Given the description of an element on the screen output the (x, y) to click on. 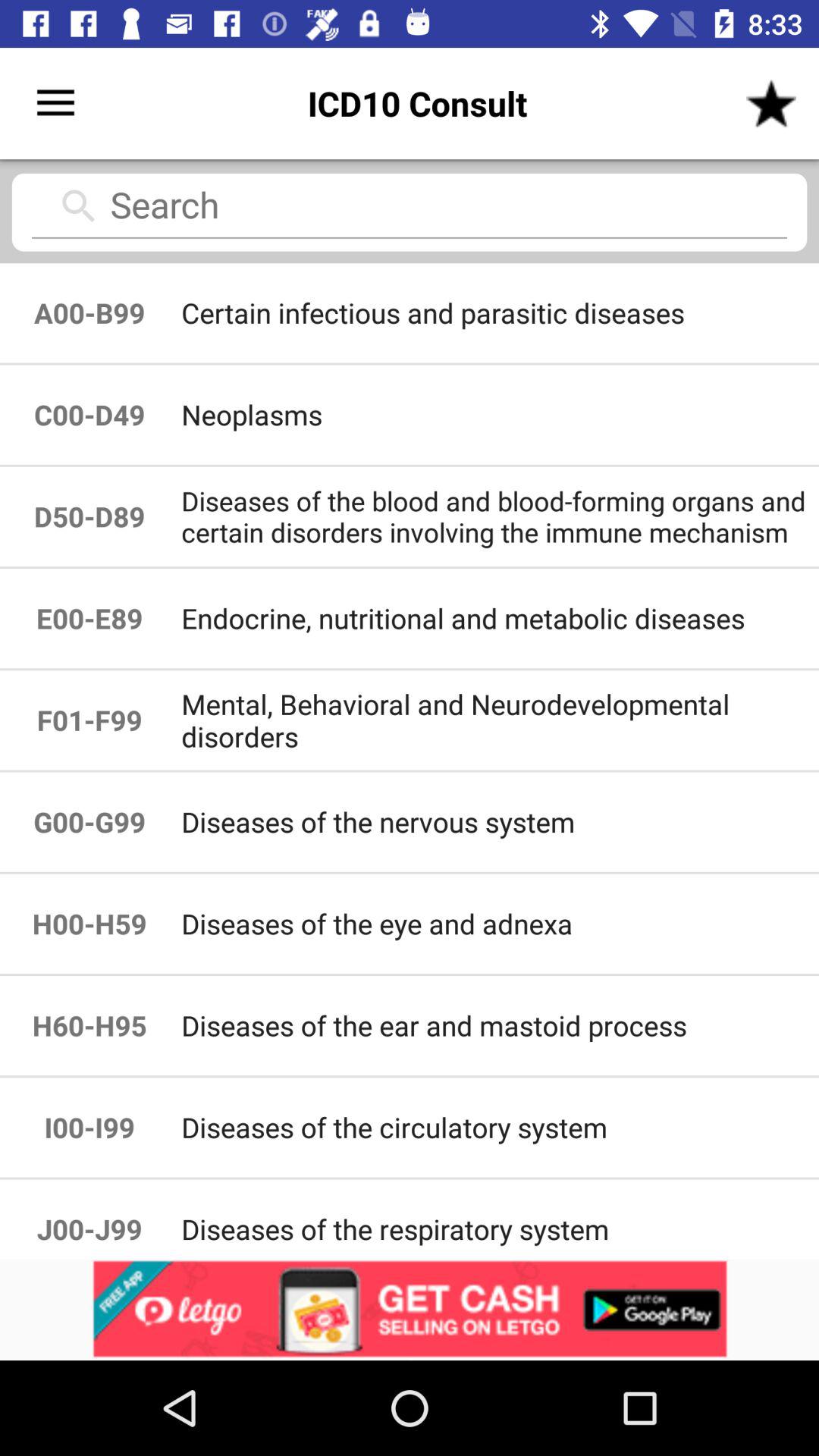
turn off the icon next to diseases of the (89, 923)
